Given the description of an element on the screen output the (x, y) to click on. 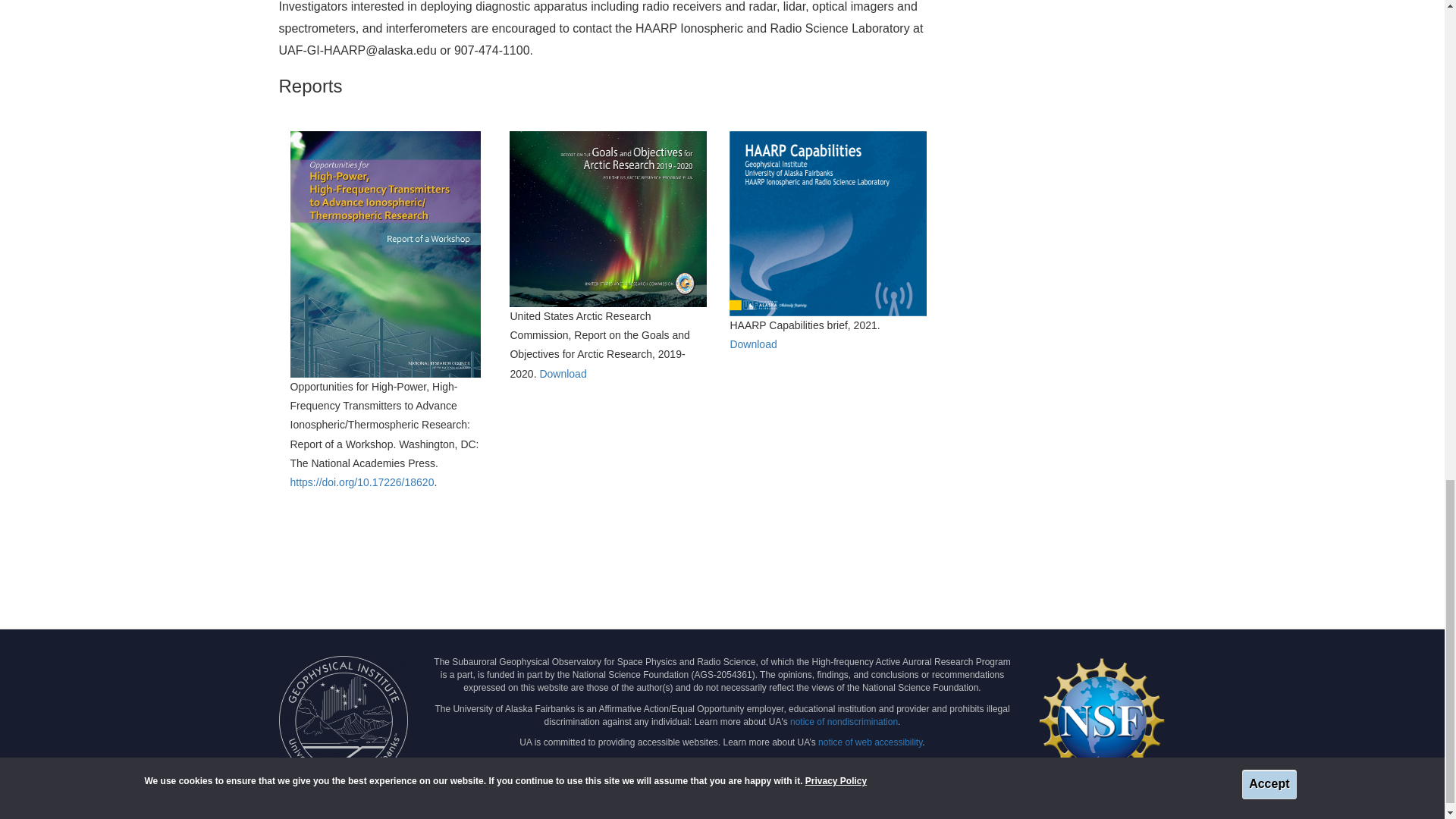
Website credits (863, 784)
Download (752, 344)
notice of web accessibility (869, 742)
notice of nondiscrimination (844, 721)
Download (562, 373)
